Given the description of an element on the screen output the (x, y) to click on. 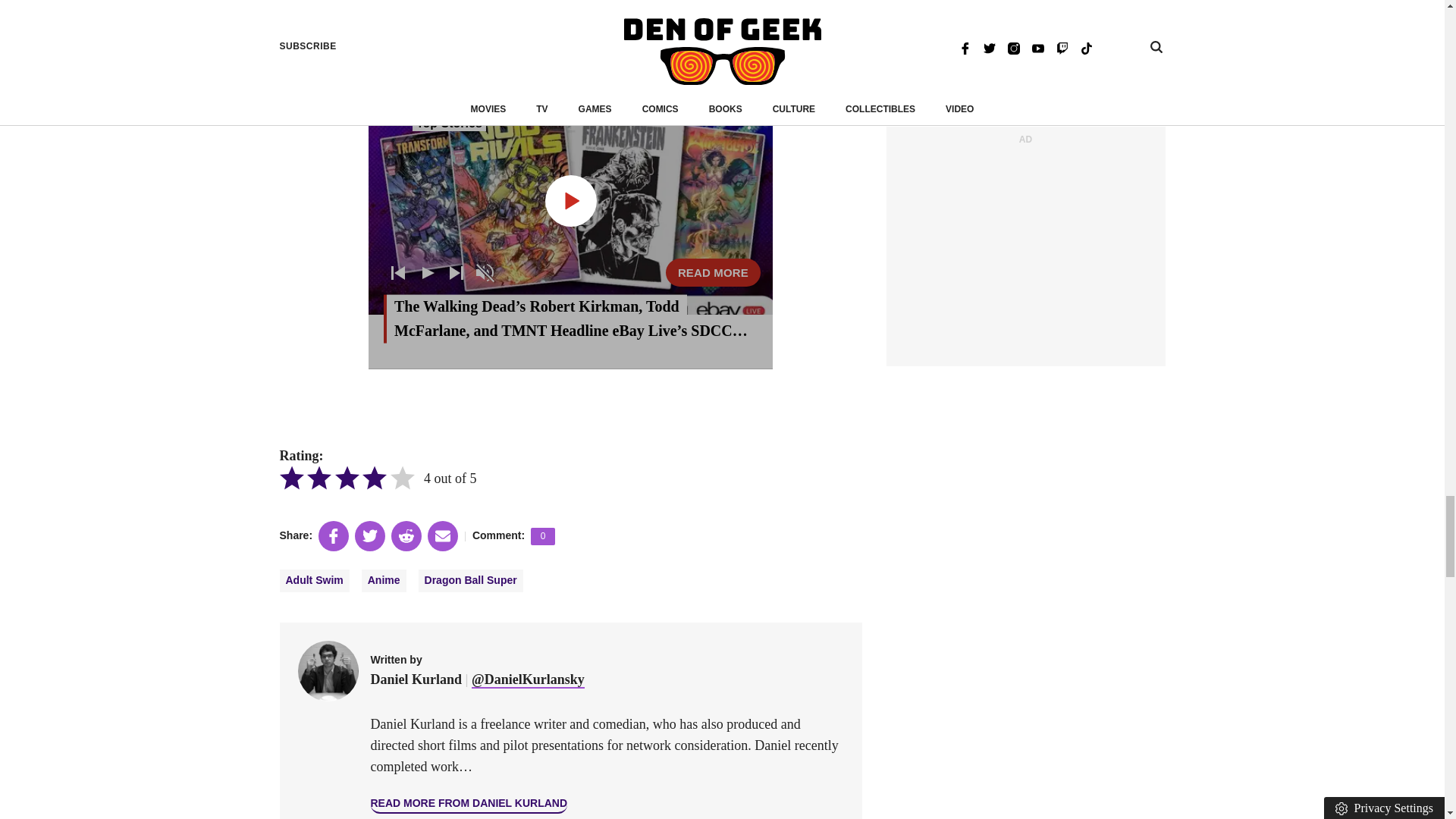
READ MORE (712, 272)
